Given the description of an element on the screen output the (x, y) to click on. 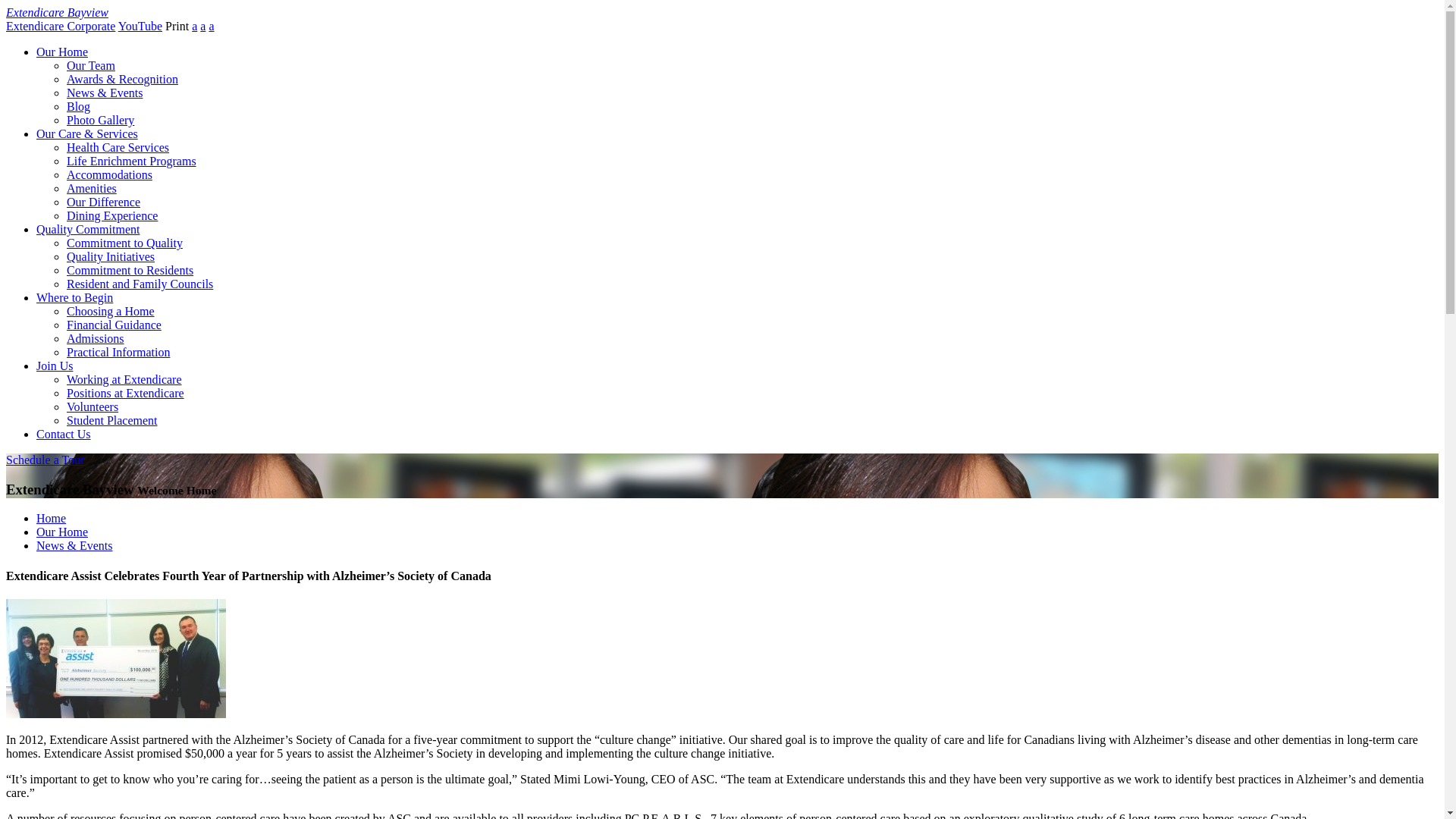
Our Home (61, 531)
Schedule a Tour (44, 459)
Home (50, 517)
Life Enrichment Programs (131, 160)
Quality Commitment (87, 228)
Where to Begin (74, 297)
Student Placement (111, 420)
Our Team (90, 65)
Accommodations (109, 174)
Financial Guidance (113, 324)
